Given the description of an element on the screen output the (x, y) to click on. 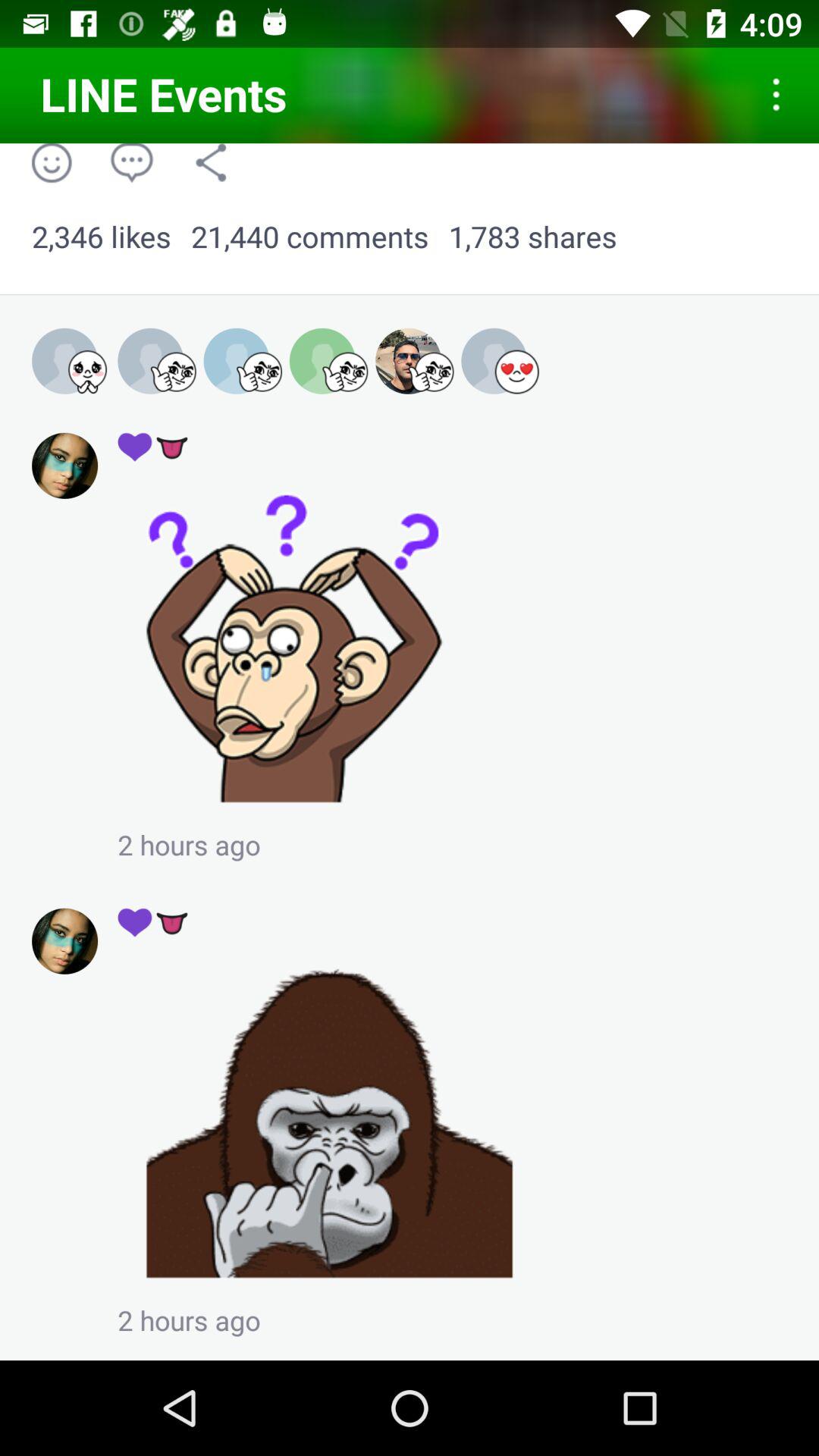
press the app next to 21,440 comments (532, 237)
